Given the description of an element on the screen output the (x, y) to click on. 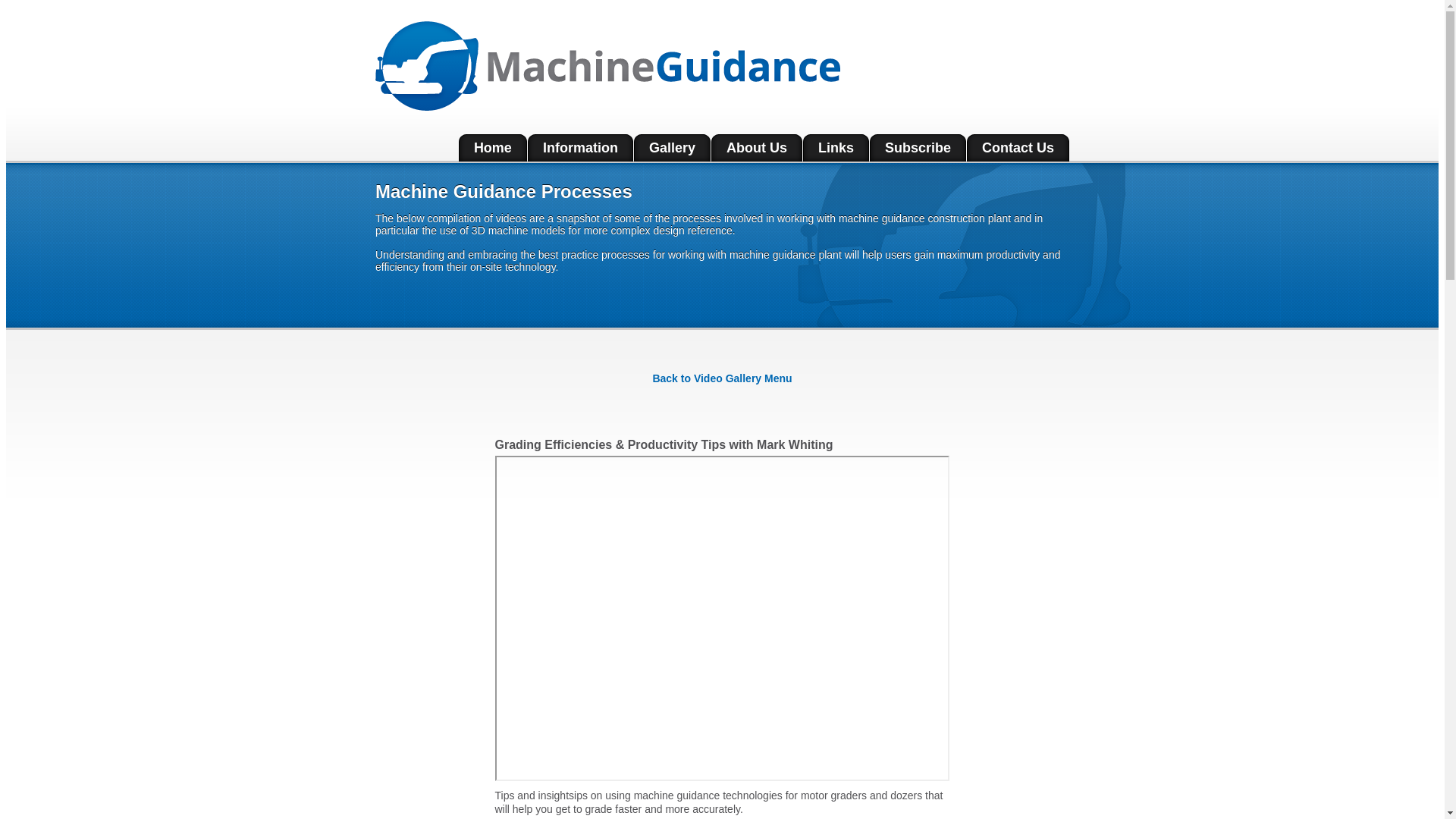
Information Element type: text (580, 147)
Gallery Element type: text (671, 147)
Links Element type: text (836, 147)
Back to Video Gallery Menu Element type: text (721, 378)
Contact Us Element type: text (1017, 147)
Subscribe Element type: text (917, 147)
Home Element type: text (492, 147)
About Us Element type: text (756, 147)
